Given the description of an element on the screen output the (x, y) to click on. 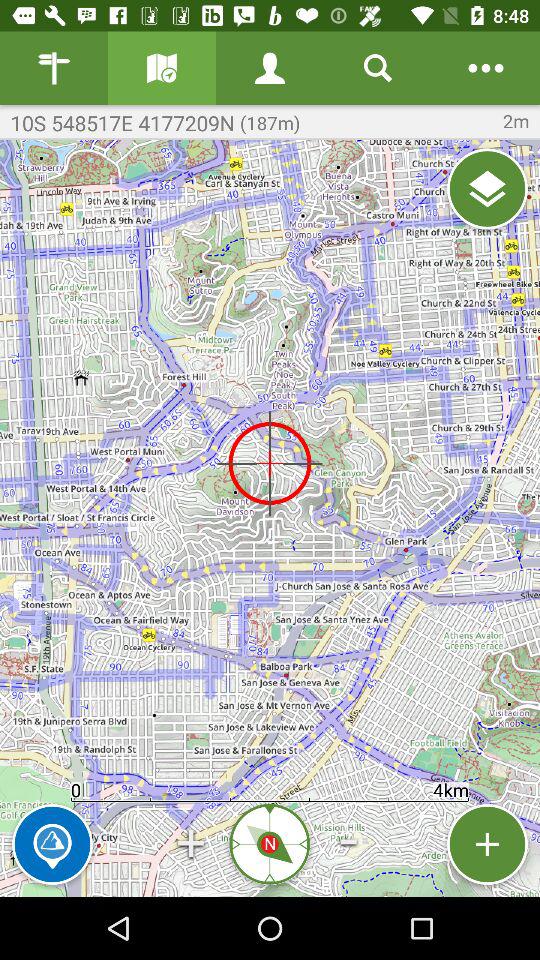
add location (487, 844)
